Given the description of an element on the screen output the (x, y) to click on. 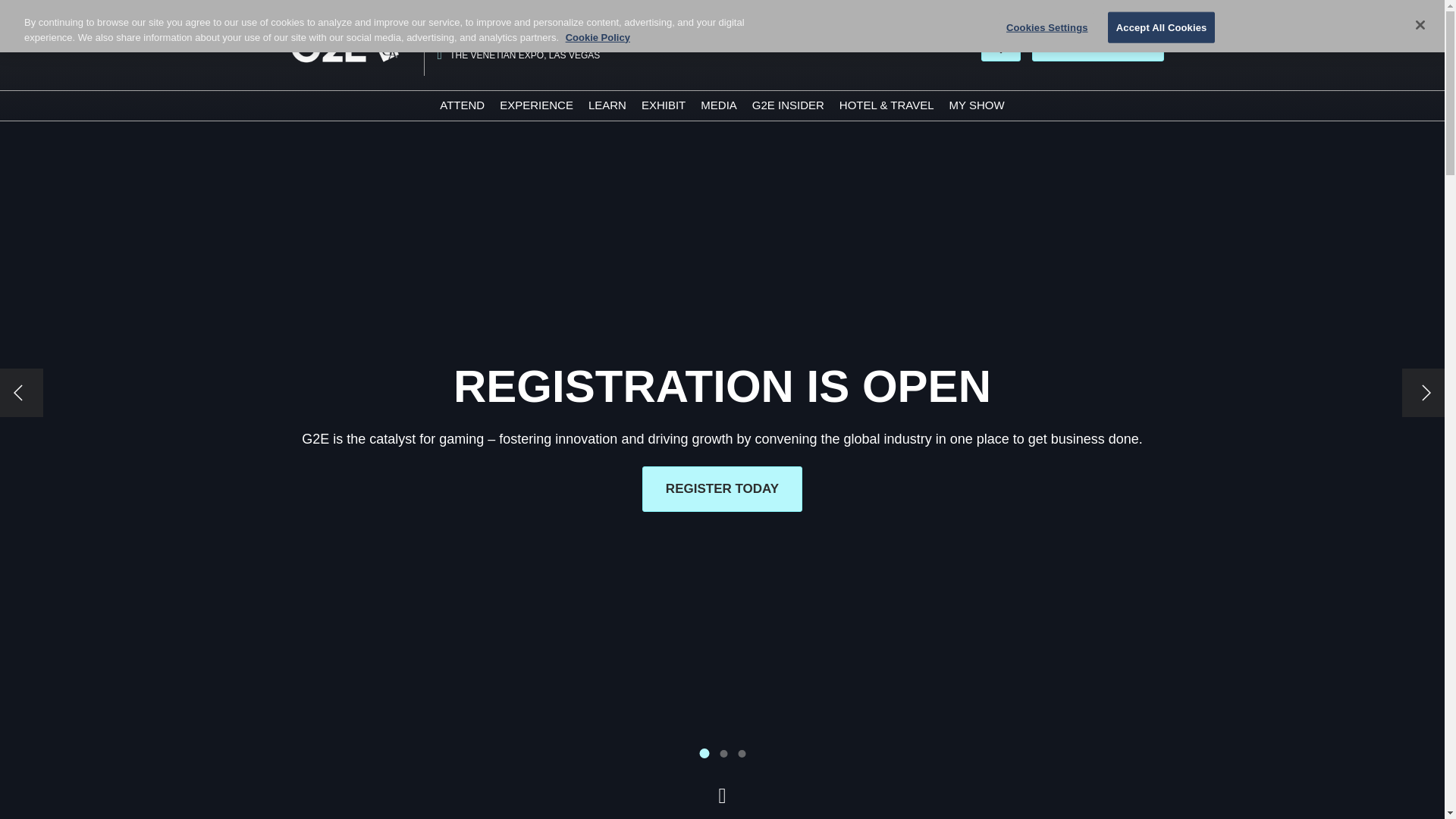
MEDIA (718, 104)
ATTEND (461, 104)
REGISTER TODAY (1097, 45)
Display your plan (1000, 45)
MY SHOW (976, 104)
EXHIBIT (663, 104)
EXPERIENCE (536, 104)
G2E INSIDER (788, 104)
LEARN (607, 104)
